Given the description of an element on the screen output the (x, y) to click on. 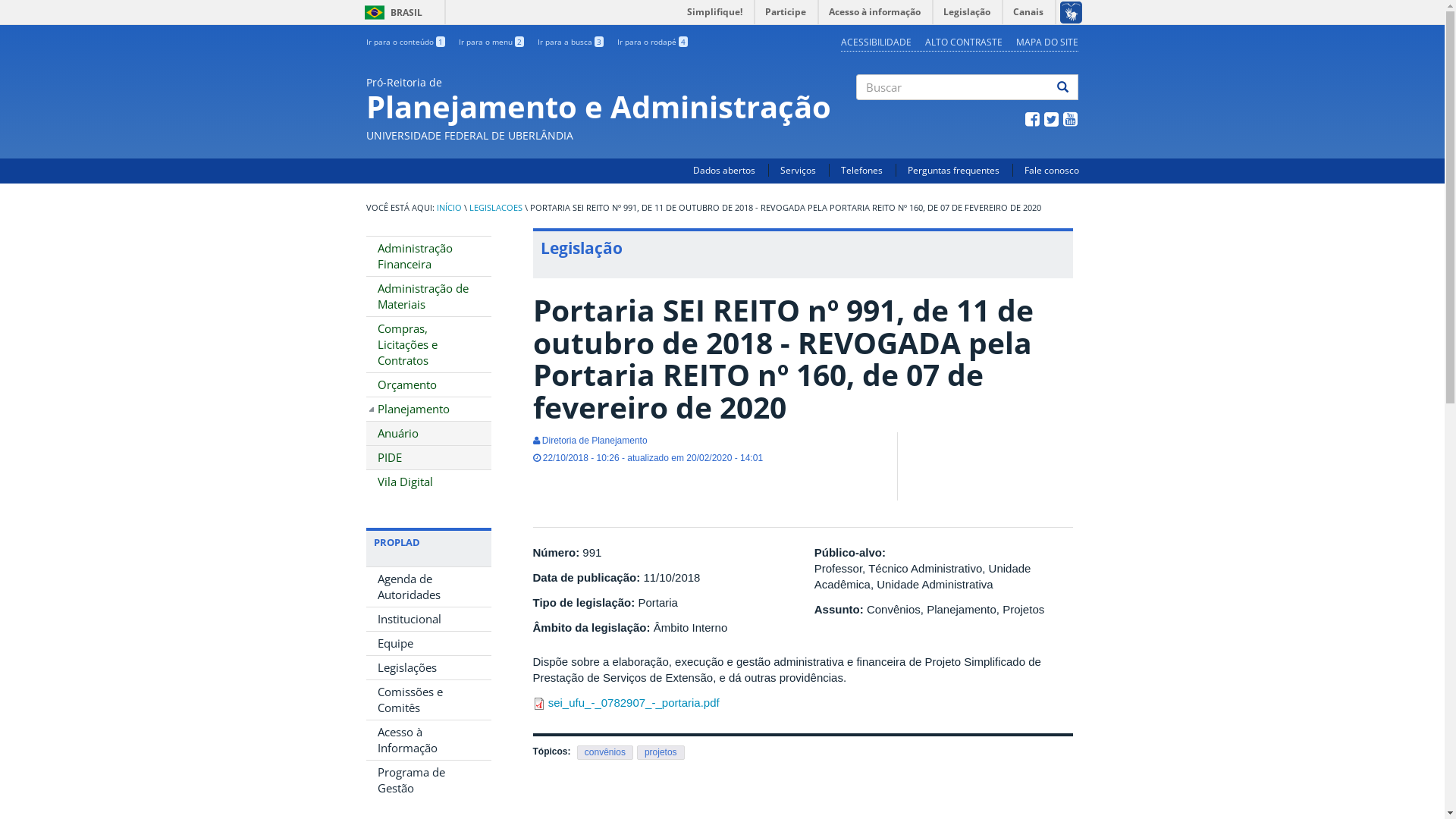
ACESSIBILIDADE Element type: text (875, 41)
Telefones Element type: text (860, 169)
sei_ufu_-_0782907_-_portaria.pdf Element type: text (633, 702)
MAPA DO SITE Element type: text (1047, 41)
Equipe Element type: text (427, 643)
Institucional Element type: text (427, 618)
Tweet Widget Element type: text (912, 485)
Vila Digital Element type: text (427, 481)
BRASIL Element type: text (373, 12)
ALTO CONTRASTE Element type: text (963, 41)
Perguntas frequentes Element type: text (952, 169)
Dados abertos Element type: text (724, 169)
LEGISLACOES Element type: text (494, 207)
Ir para o menu 2 Element type: text (490, 41)
PIDE Element type: text (427, 457)
Ir para a busca 3 Element type: text (569, 41)
application/pdf Element type: hover (538, 703)
Agenda de Autoridades Element type: text (427, 586)
projetos Element type: text (660, 752)
Buscar Element type: text (865, 112)
Fale conosco Element type: text (1050, 169)
Planejamento Element type: text (427, 408)
